Given the description of an element on the screen output the (x, y) to click on. 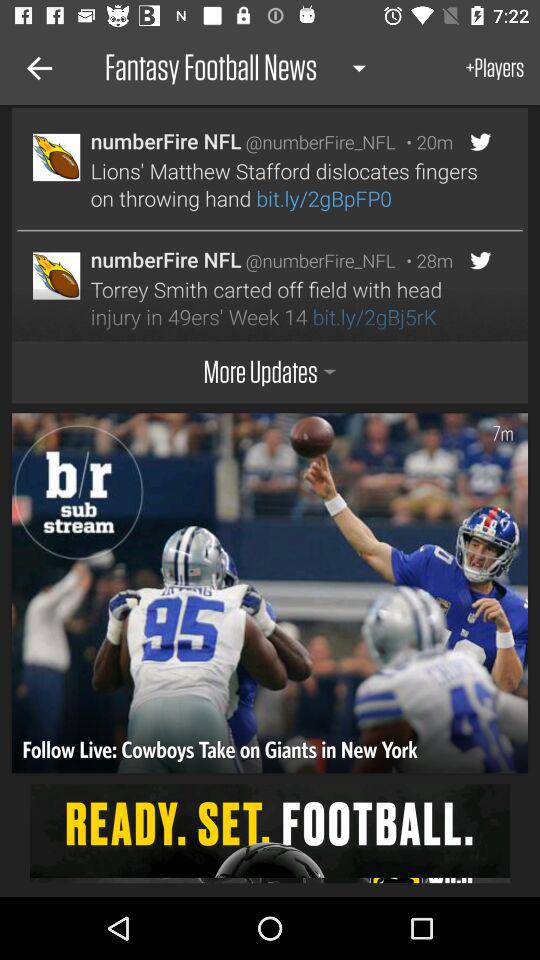
launch item above the lions matthew stafford (423, 141)
